Given the description of an element on the screen output the (x, y) to click on. 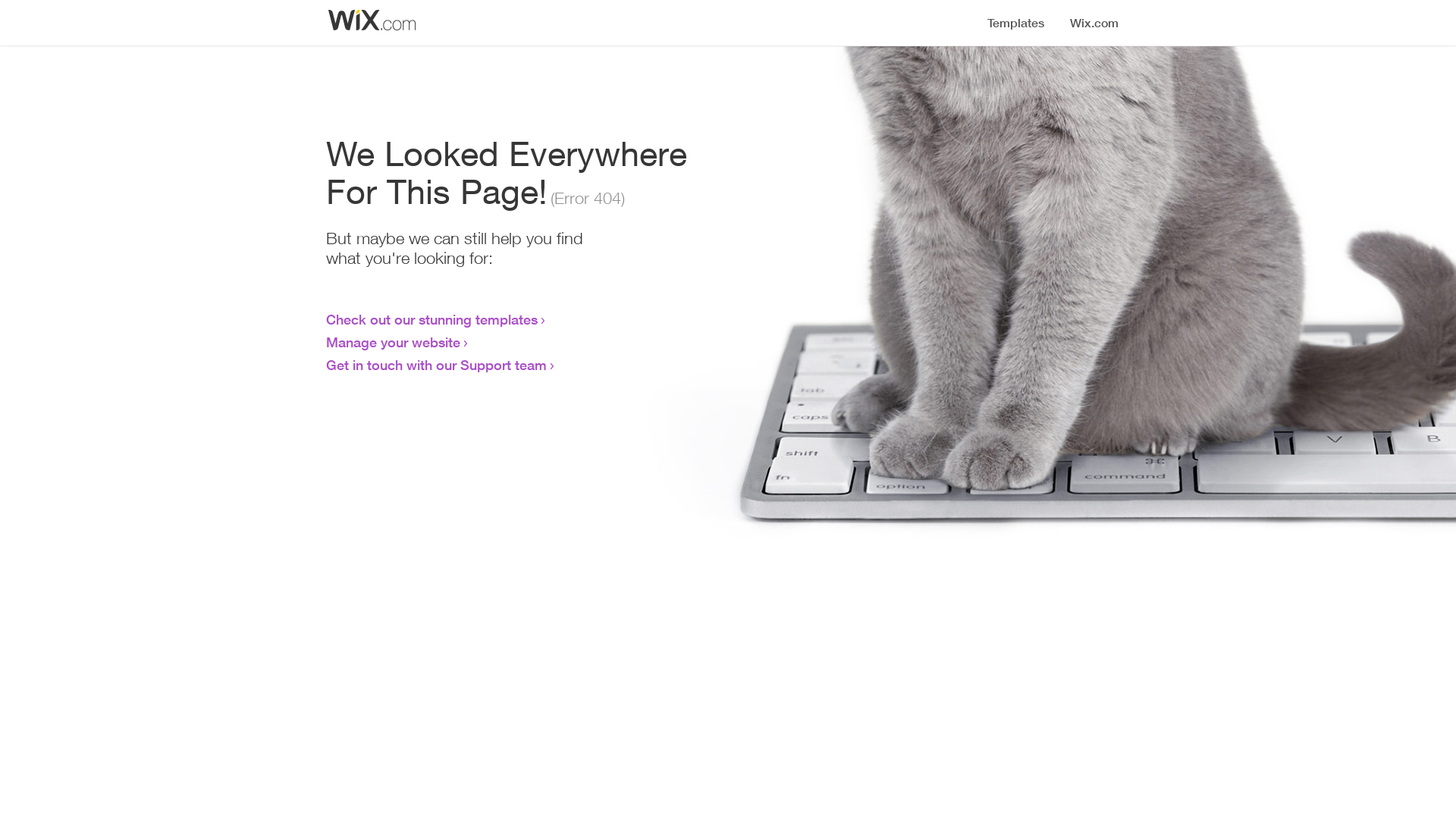
Manage your website Element type: text (393, 341)
Get in touch with our Support team Element type: text (436, 364)
Check out our stunning templates Element type: text (431, 318)
